Given the description of an element on the screen output the (x, y) to click on. 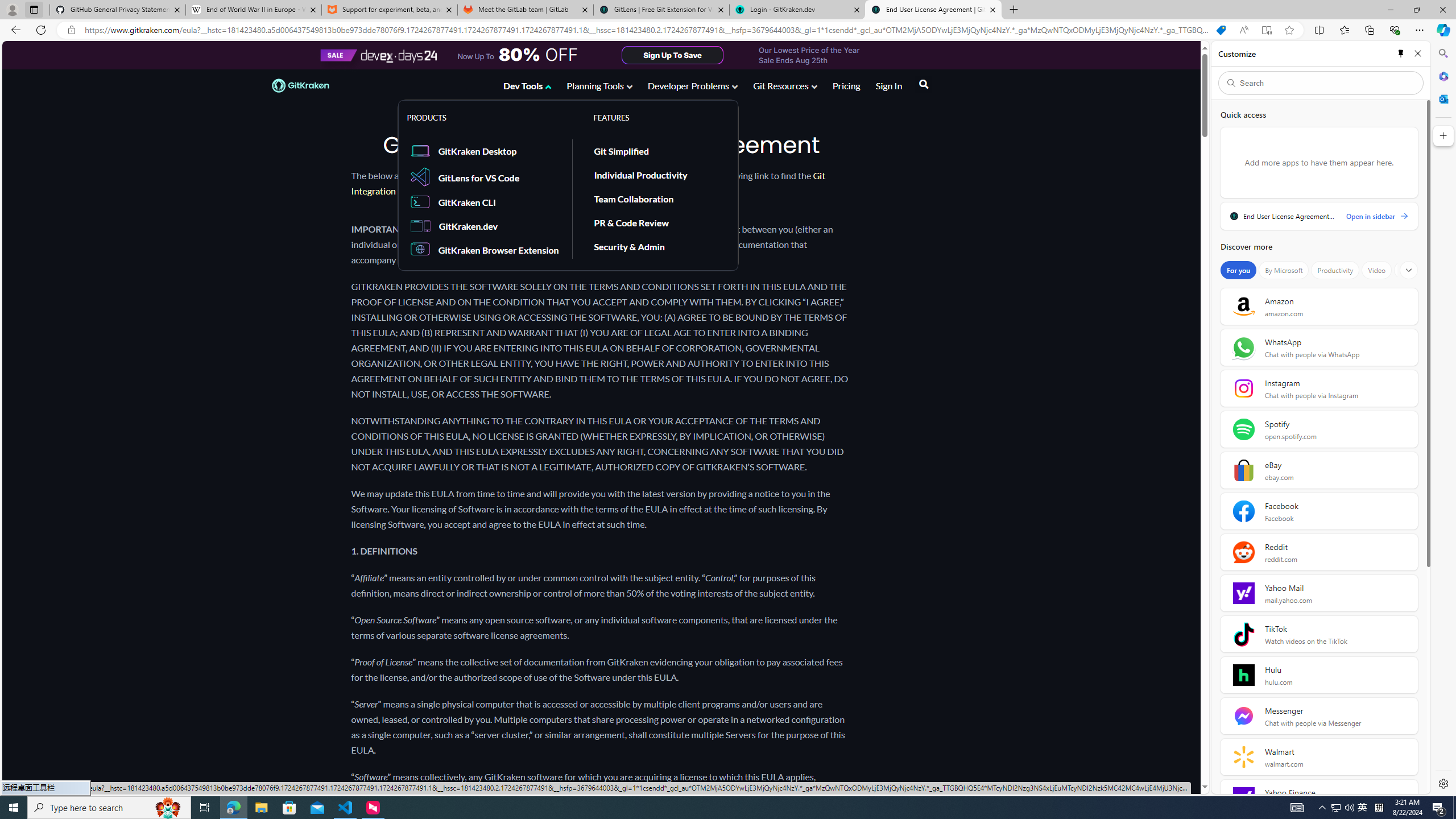
GitLens | Free Git Extension for Visual Studio Code (660, 9)
For you (1238, 270)
Security & Admin (656, 246)
